Given the description of an element on the screen output the (x, y) to click on. 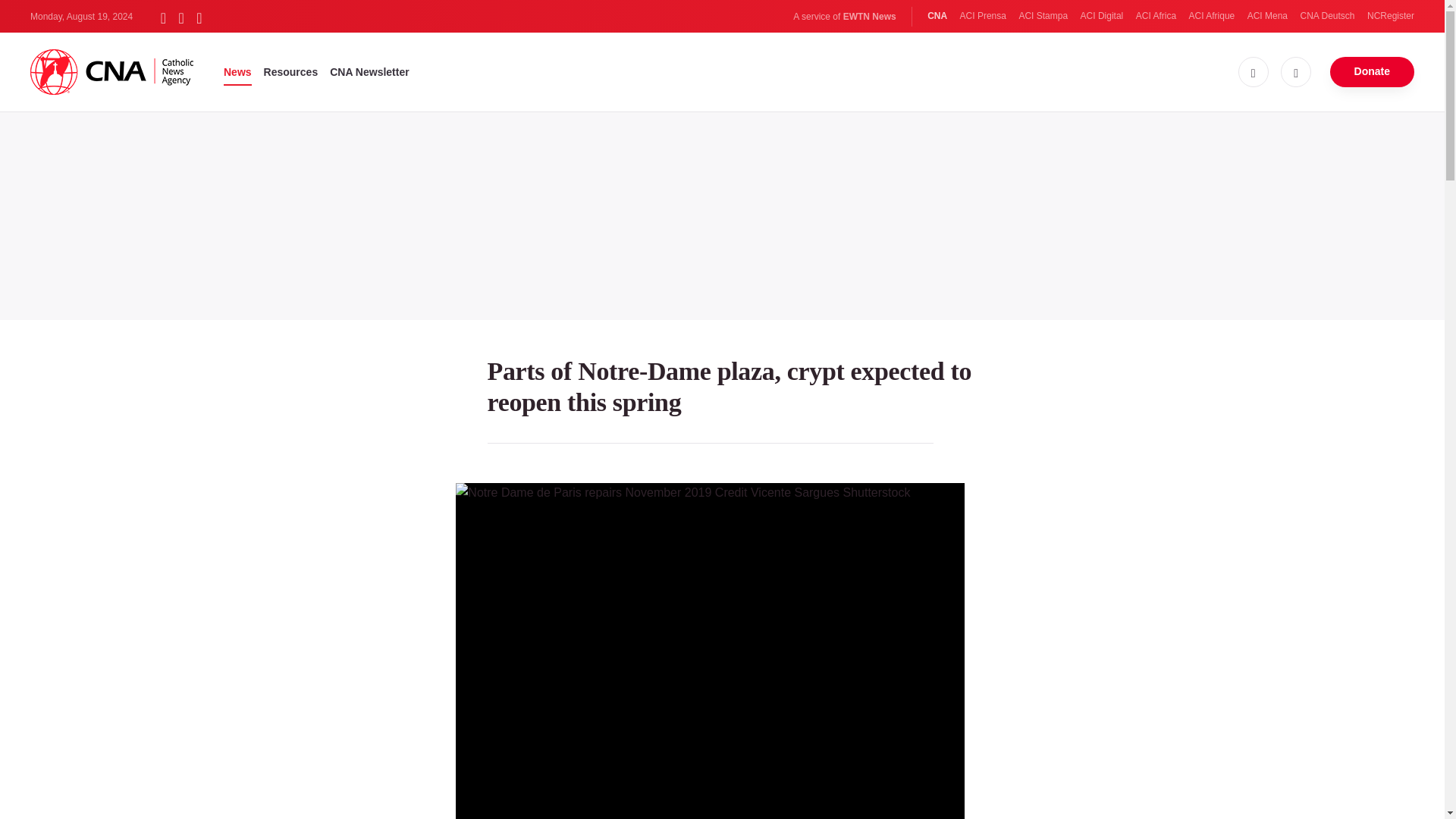
NCRegister (1390, 16)
News (237, 71)
EWTN News (869, 16)
CNA (937, 16)
ACI Afrique (1211, 16)
EWTN News (869, 16)
Resources (290, 71)
ACI Digital (1102, 16)
ACI Africa (1155, 16)
ACI Stampa (1042, 16)
